Given the description of an element on the screen output the (x, y) to click on. 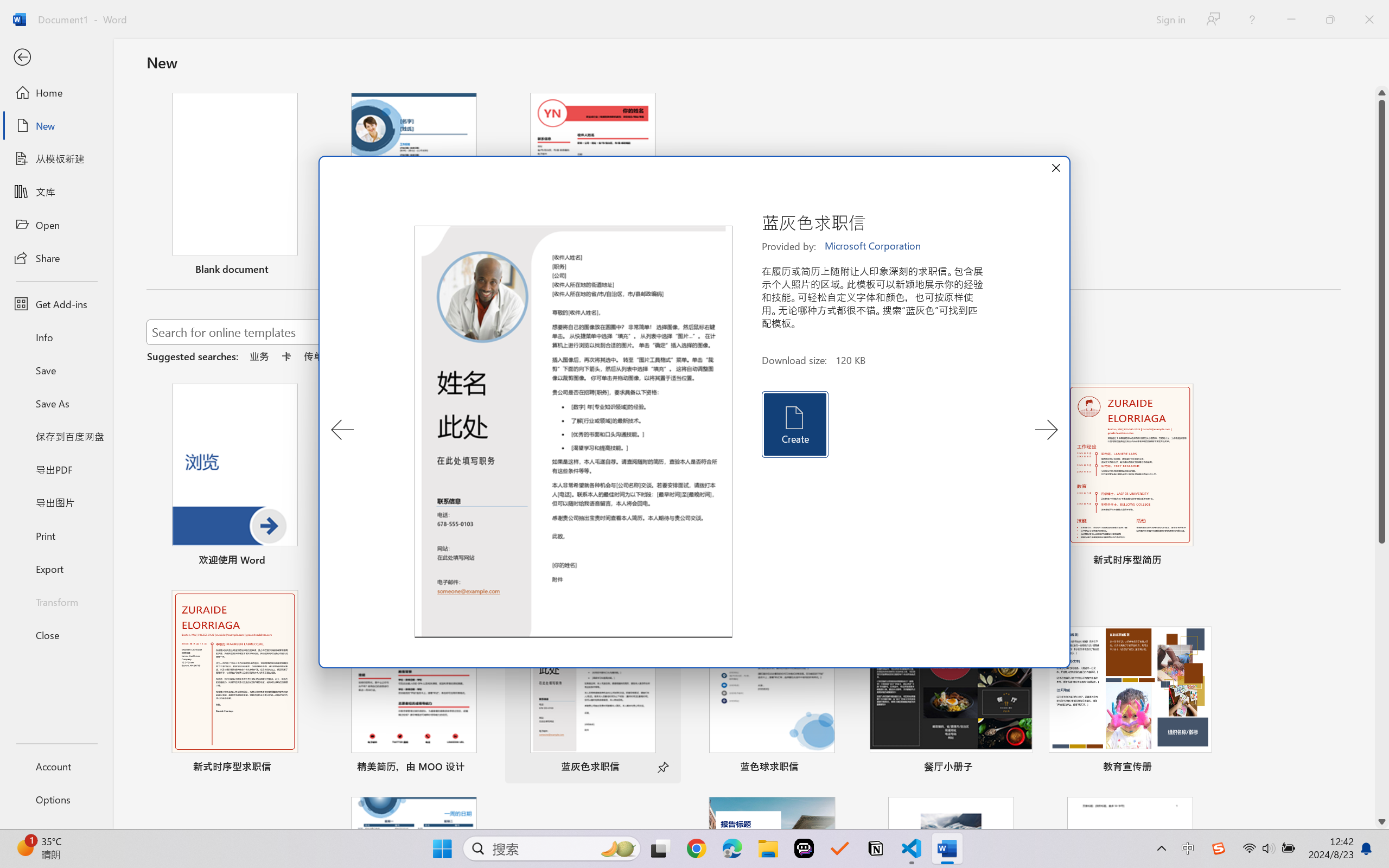
Chrome Web Store - Color themes by Chrome (788, 12)
Google Workspace Admin Community (48, 12)
Games (134, 71)
New Tab (1127, 12)
See more information on About this game (444, 721)
Share (478, 448)
